Given the description of an element on the screen output the (x, y) to click on. 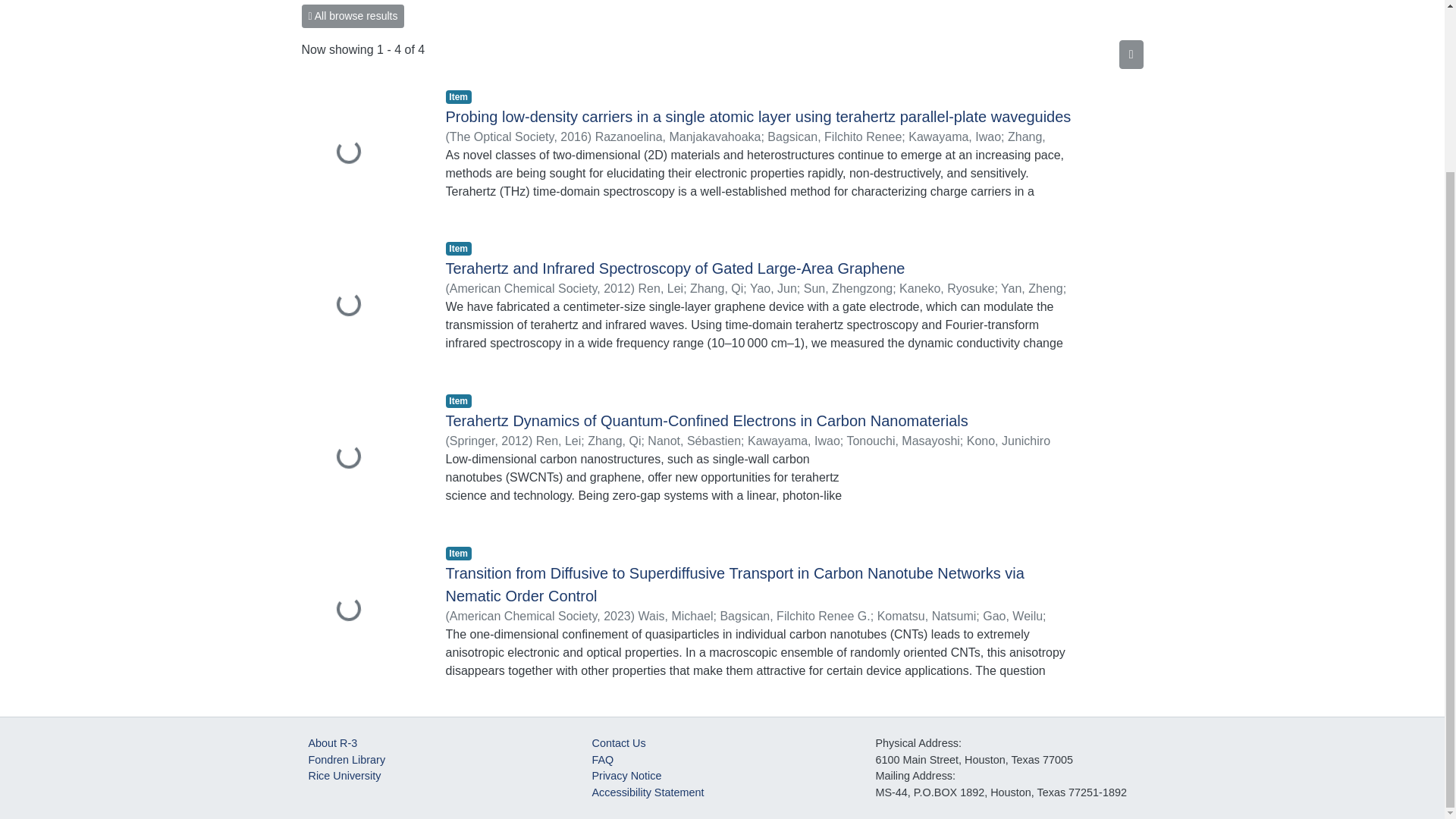
Loading... (362, 306)
Loading... (362, 458)
All browse results (352, 15)
Loading... (362, 153)
